Given the description of an element on the screen output the (x, y) to click on. 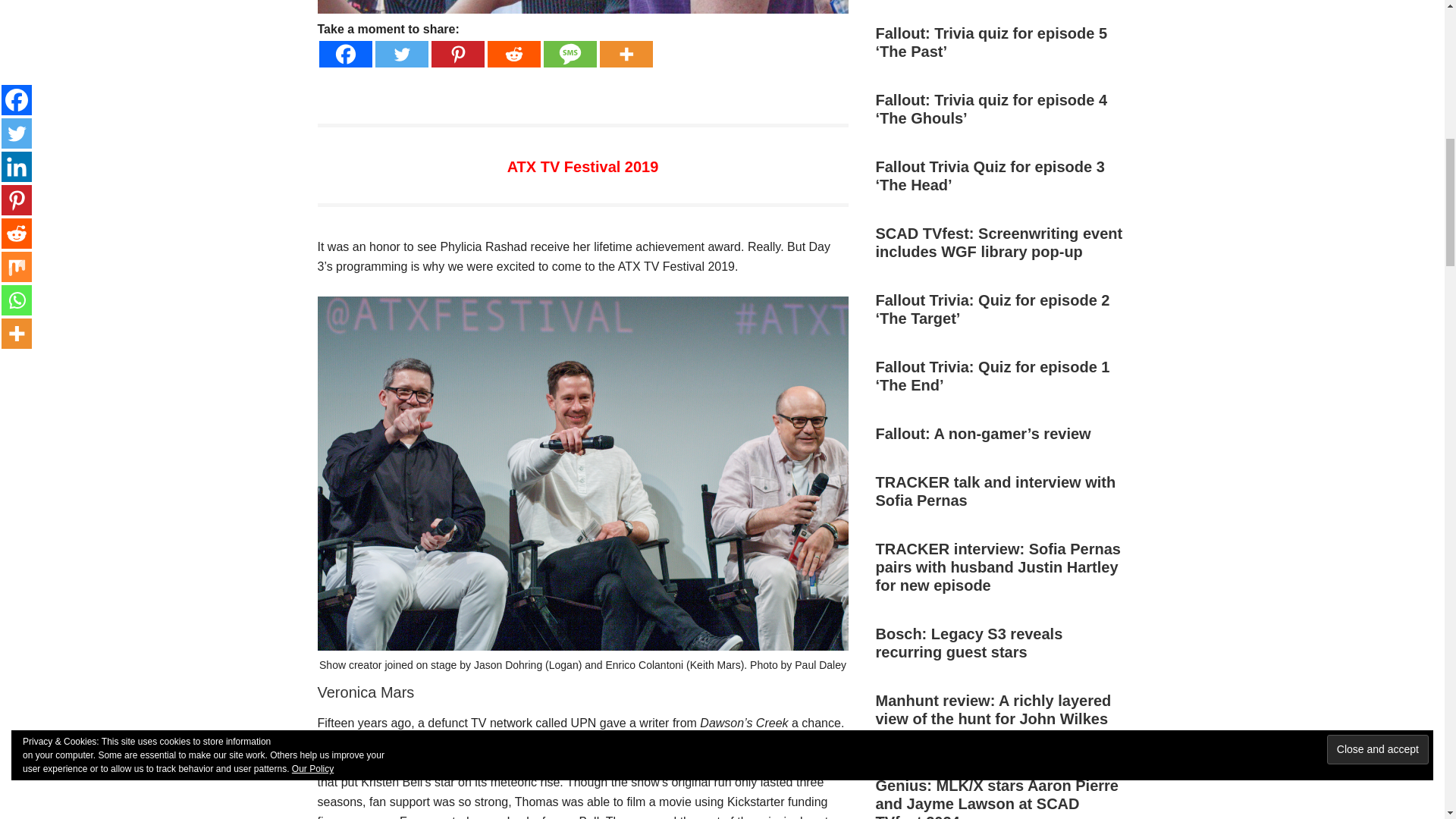
Twitter (401, 53)
More (625, 53)
Facebook (344, 53)
SMS (569, 53)
Pinterest (456, 53)
Reddit (513, 53)
